Given the description of an element on the screen output the (x, y) to click on. 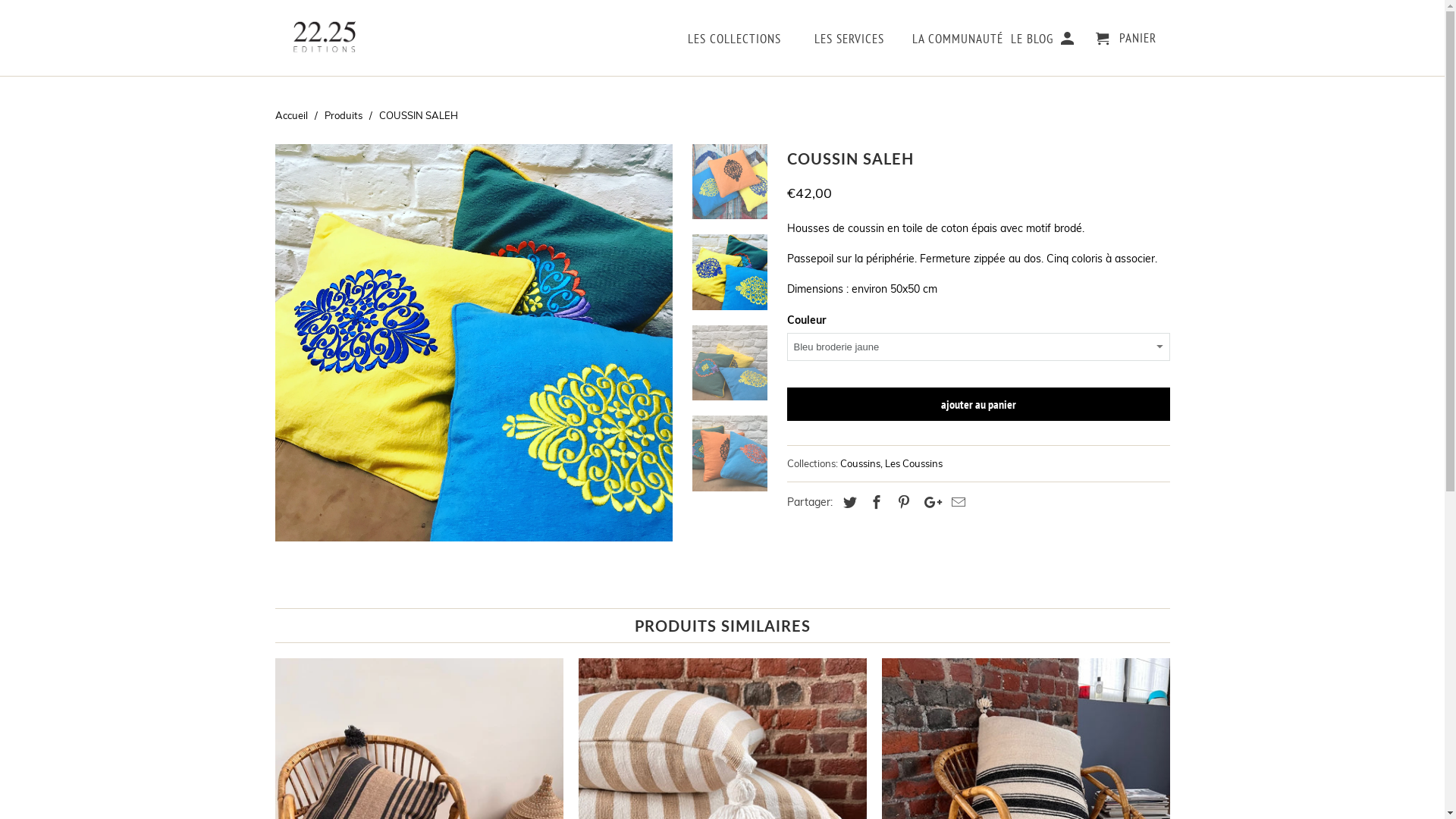
LE BLOG Element type: text (1031, 41)
PANIER Element type: text (1125, 38)
Partagez ceci sur Google+ Element type: hover (928, 502)
Coussins Element type: text (860, 463)
Accueil Element type: text (290, 115)
COUSSIN SALEH Element type: hover (472, 342)
Mon compte  Element type: hover (1068, 41)
22.25 EDITIONS Element type: hover (323, 37)
Partagez ceci sur Twitter Element type: hover (847, 502)
Produits Element type: text (343, 115)
Les Coussins Element type: text (912, 463)
Partagez ceci sur Pinterest Element type: hover (901, 502)
Partagez ceci sur Facebook Element type: hover (874, 502)
ajouter au panier Element type: text (978, 403)
